Given the description of an element on the screen output the (x, y) to click on. 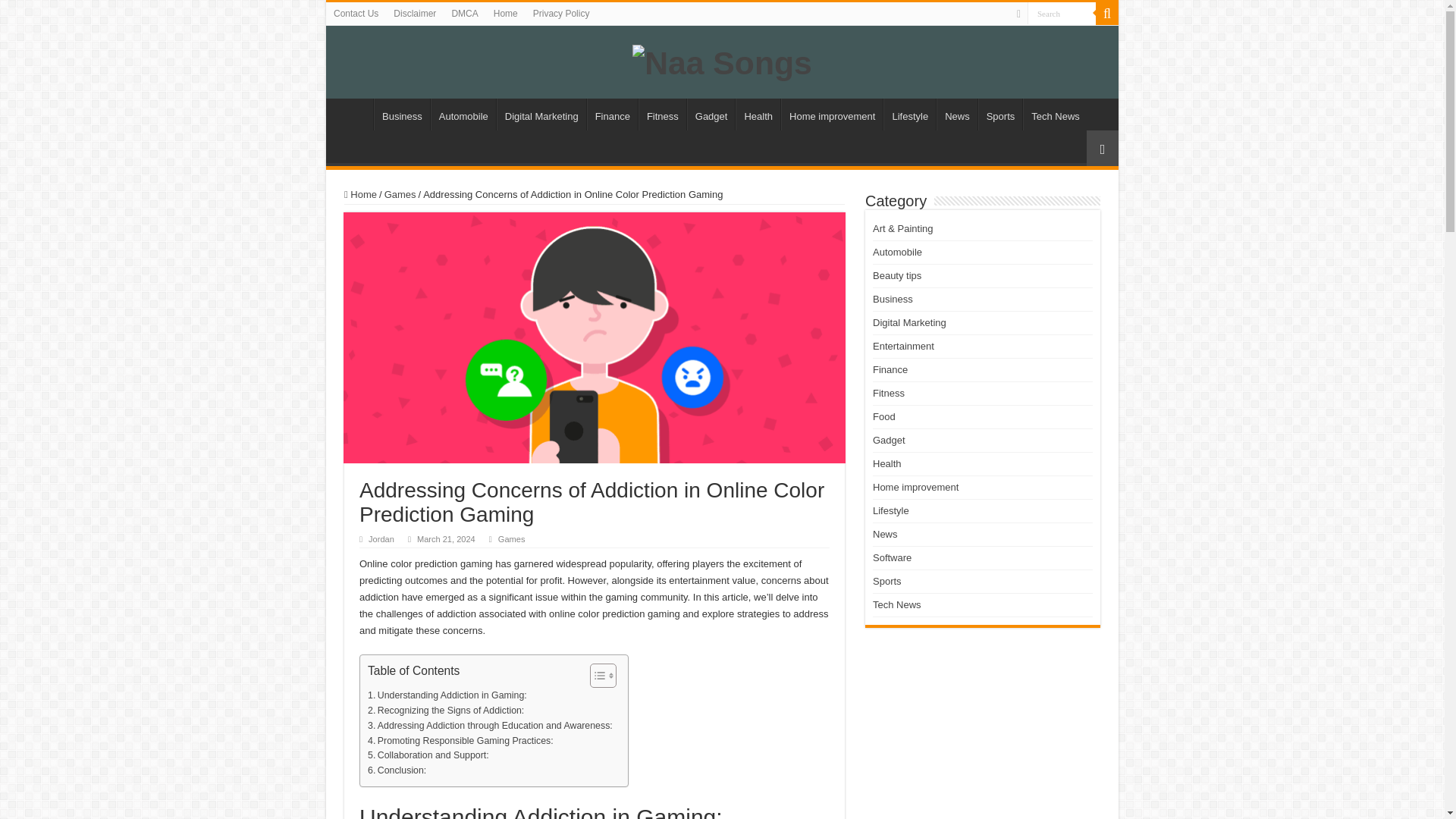
Home improvement (831, 114)
Health (757, 114)
Lifestyle (909, 114)
Home (352, 114)
Search (1061, 13)
Conclusion: (397, 770)
Sports (1000, 114)
Home (505, 13)
Gadget (711, 114)
Search (1061, 13)
